Given the description of an element on the screen output the (x, y) to click on. 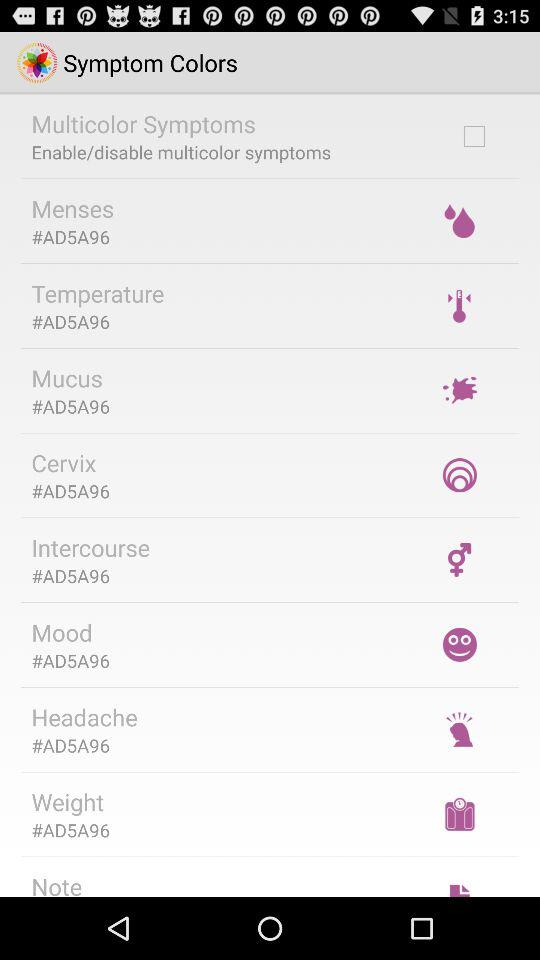
jump to weight (67, 801)
